Given the description of an element on the screen output the (x, y) to click on. 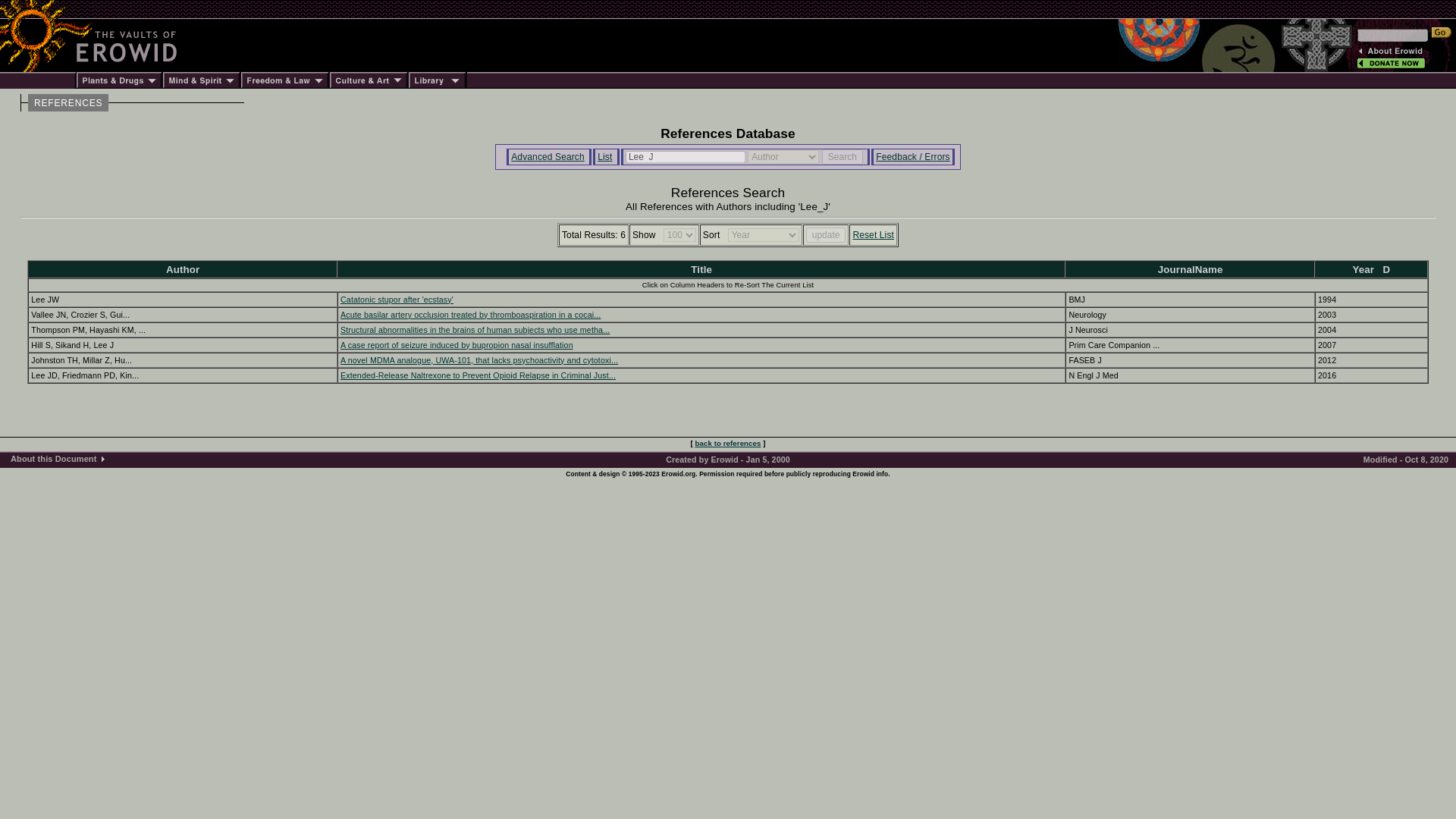
Search (842, 156)
Search (842, 156)
update (825, 234)
